Given the description of an element on the screen output the (x, y) to click on. 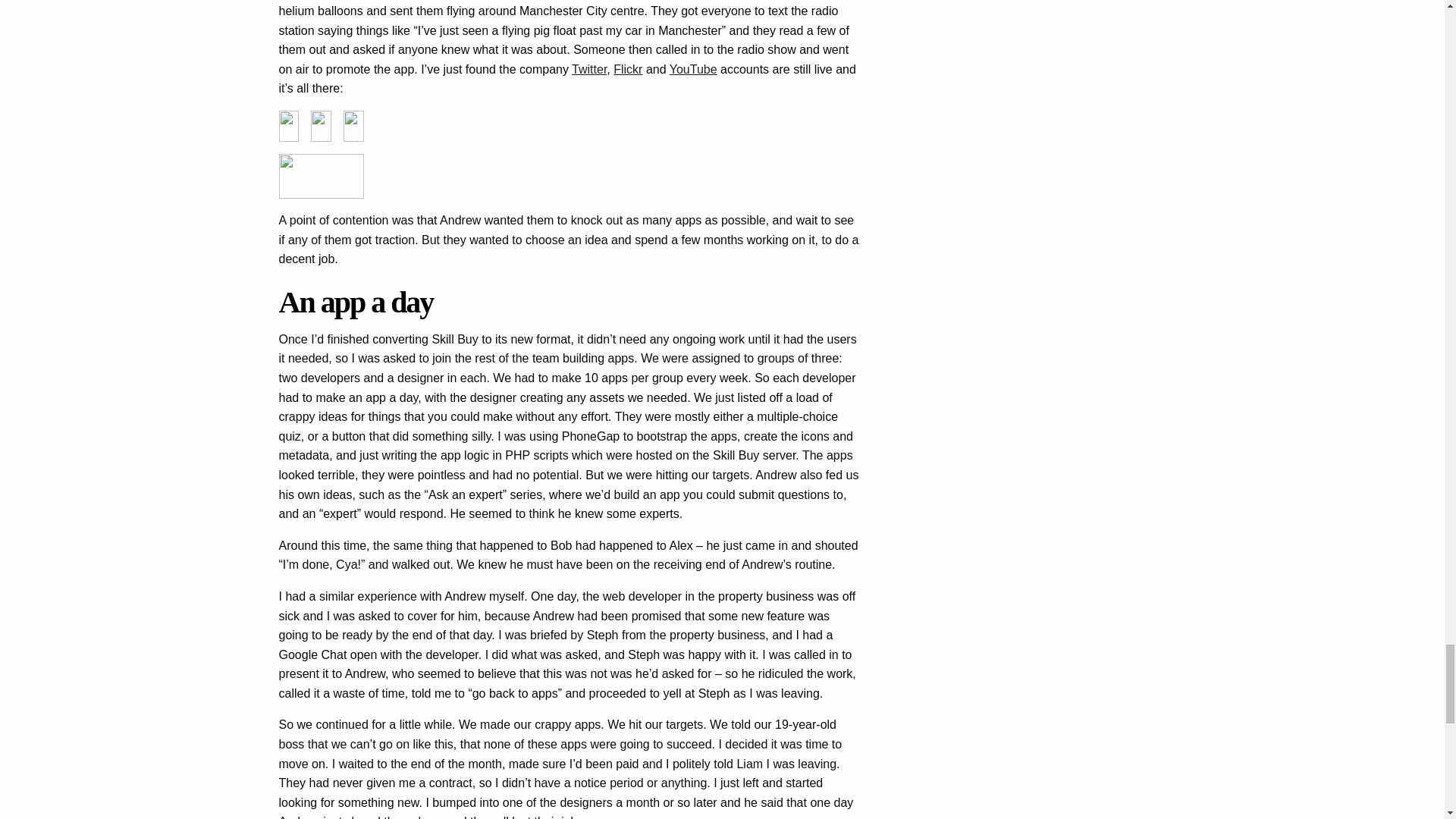
Flickr (627, 69)
YouTube (693, 69)
Twitter (589, 69)
